Given the description of an element on the screen output the (x, y) to click on. 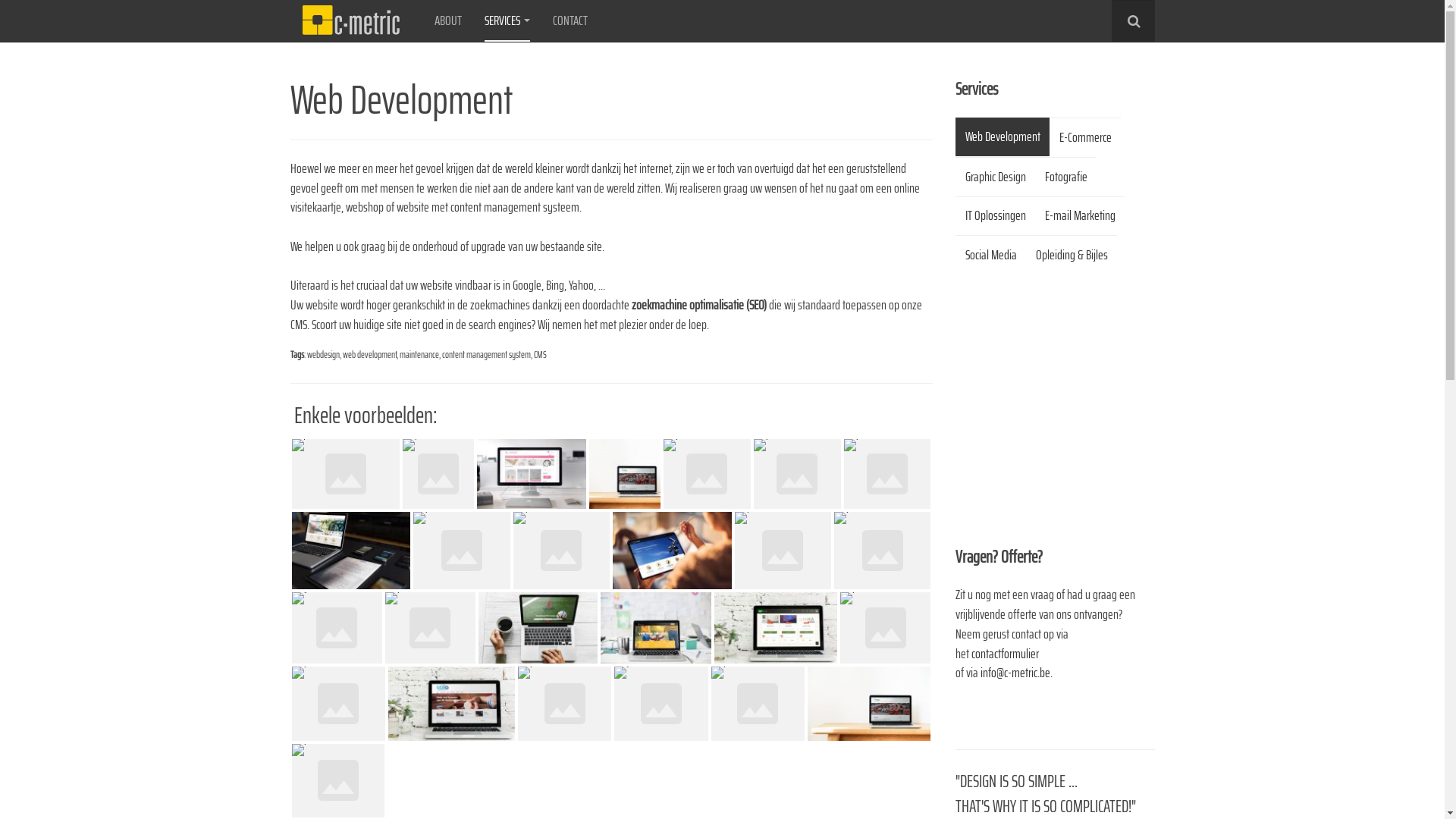
E-Commerce Element type: text (1084, 137)
Social Media Element type: text (990, 254)
Graphic Design Element type: text (995, 176)
C-Metric Element type: hover (350, 20)
Opleiding & Bijles Element type: text (1071, 254)
CONTACT Element type: text (569, 20)
contactformulier  Element type: text (1006, 653)
SERVICES Element type: text (506, 20)
Fotografie Element type: text (1065, 176)
ABOUT Element type: text (447, 20)
IT Oplossingen Element type: text (995, 216)
info@c-metric.be. Element type: text (1016, 672)
E-mail Marketing Element type: text (1079, 216)
Web Development Element type: text (1002, 136)
